Given the description of an element on the screen output the (x, y) to click on. 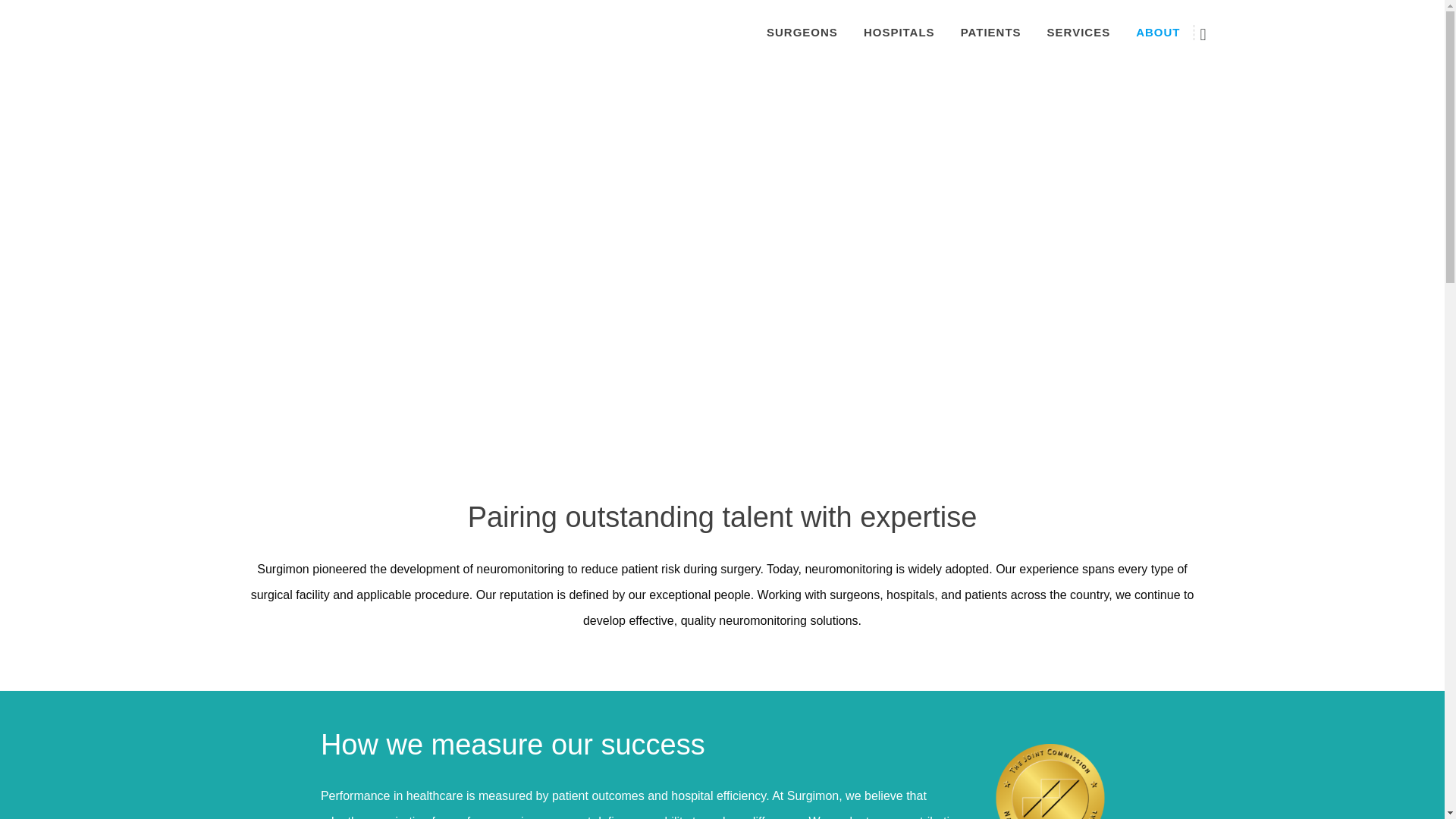
SURGEONS (802, 32)
PATIENTS (990, 32)
Surgimon-Joint-Commission-Accredited (1049, 781)
HOSPITALS (898, 32)
